Given the description of an element on the screen output the (x, y) to click on. 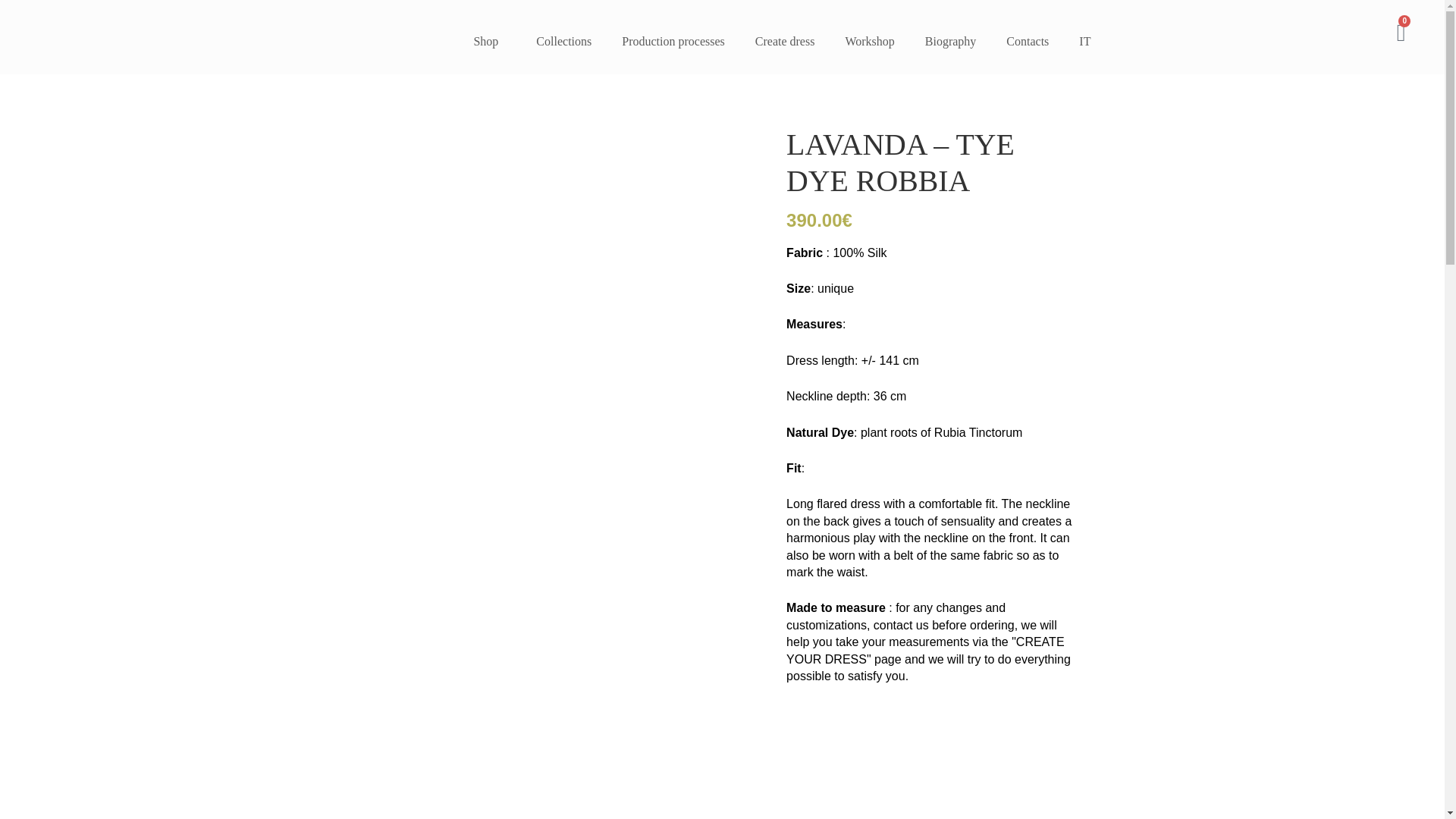
Shop (489, 41)
Workshop (868, 41)
Contacts (1027, 41)
Create dress (784, 41)
Production processes (673, 41)
IT (1084, 41)
Biography (950, 41)
0 (1400, 32)
Collections (564, 41)
